Given the description of an element on the screen output the (x, y) to click on. 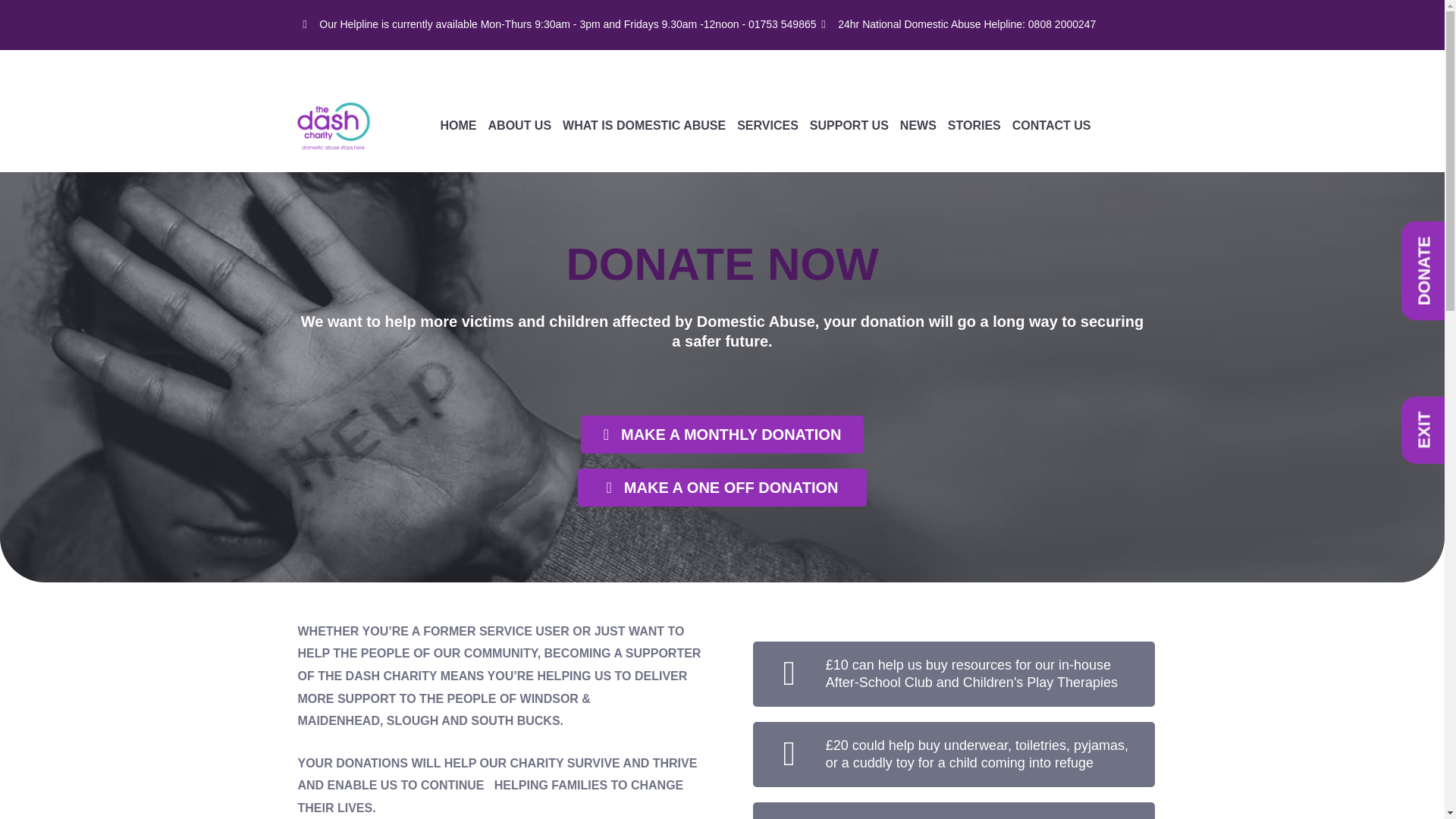
WHAT IS DOMESTIC ABUSE (643, 125)
CONTACT US (1050, 125)
SERVICES (766, 125)
ABOUT US (519, 125)
STORIES (974, 125)
SUPPORT US (848, 125)
HOME (459, 125)
NEWS (917, 125)
